Given the description of an element on the screen output the (x, y) to click on. 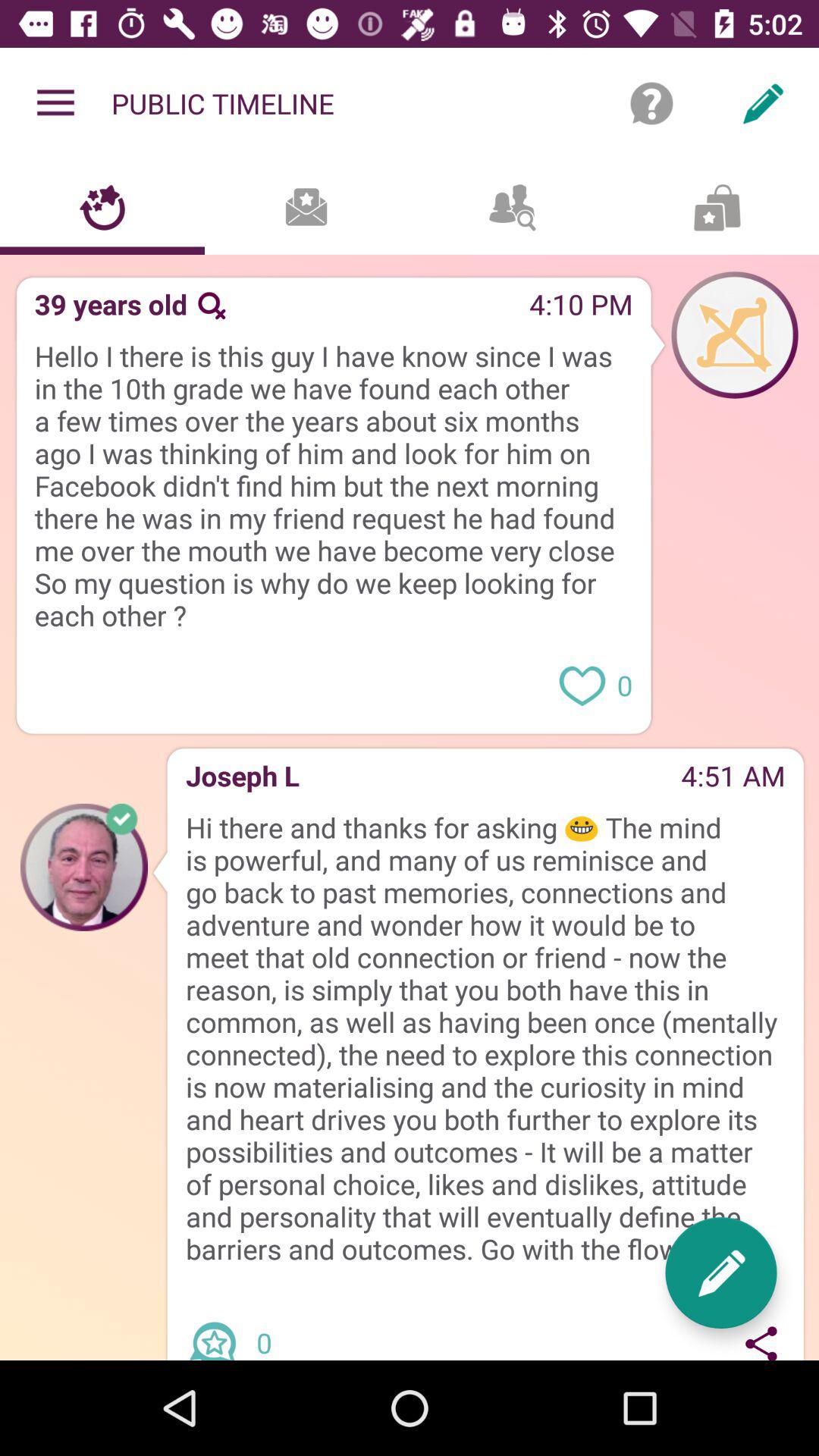
share (761, 1340)
